Given the description of an element on the screen output the (x, y) to click on. 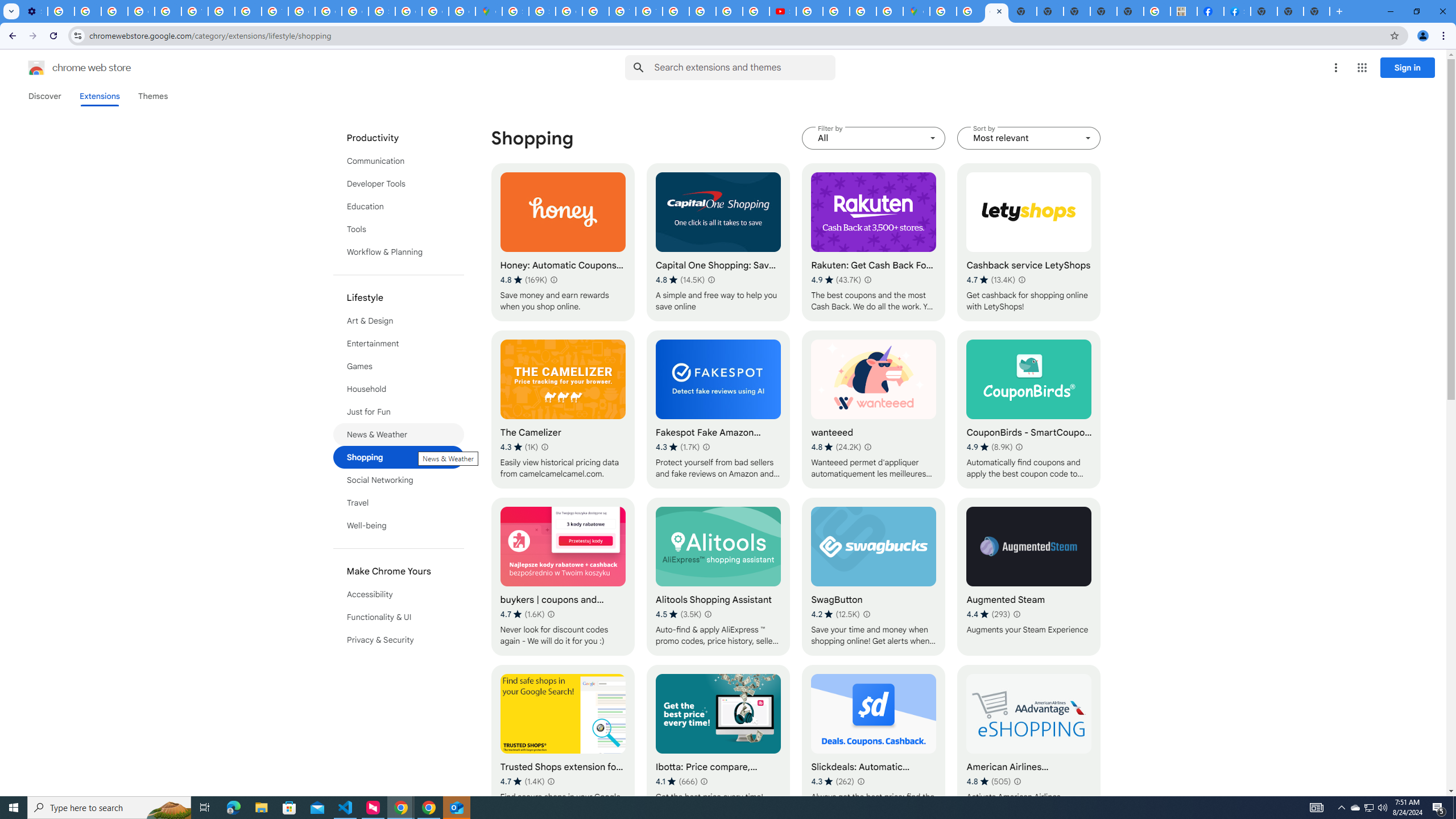
Average rating 4.8 out of 5 stars. 24.2K ratings. (835, 446)
Cashback service LetyShops (1028, 241)
Entertainment (398, 343)
Average rating 4.7 out of 5 stars. 1.4K ratings. (521, 781)
Average rating 4.3 out of 5 stars. 262 ratings. (832, 781)
Google Maps (916, 11)
Average rating 4.8 out of 5 stars. 169K ratings. (523, 279)
Average rating 4.5 out of 5 stars. 3.5K ratings. (678, 613)
Average rating 4.8 out of 5 stars. 505 ratings. (988, 781)
